Given the description of an element on the screen output the (x, y) to click on. 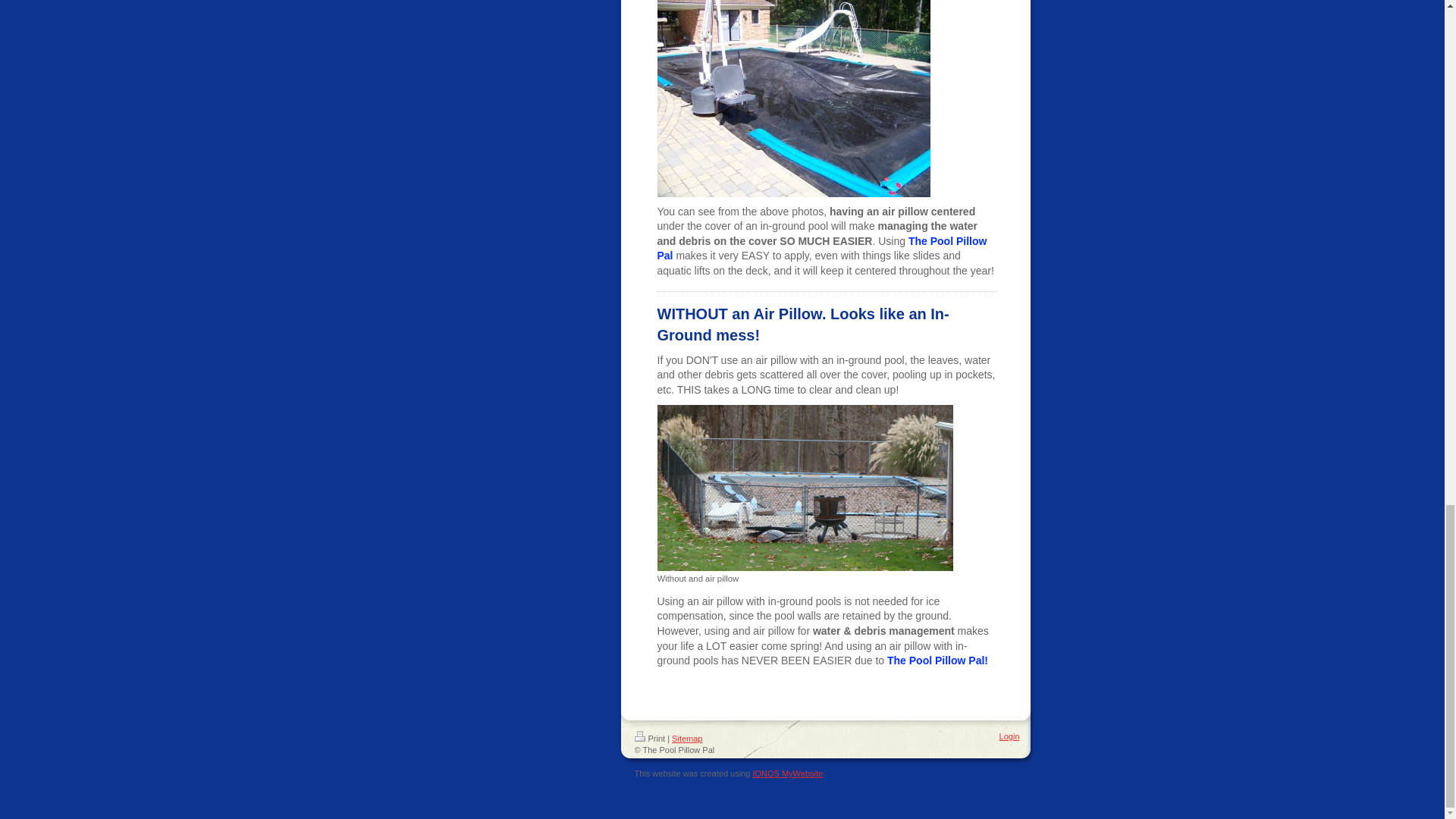
Without and air pillow (804, 493)
Sitemap (686, 737)
IONOS MyWebsite (787, 773)
Login (1009, 736)
Print (649, 737)
